Given the description of an element on the screen output the (x, y) to click on. 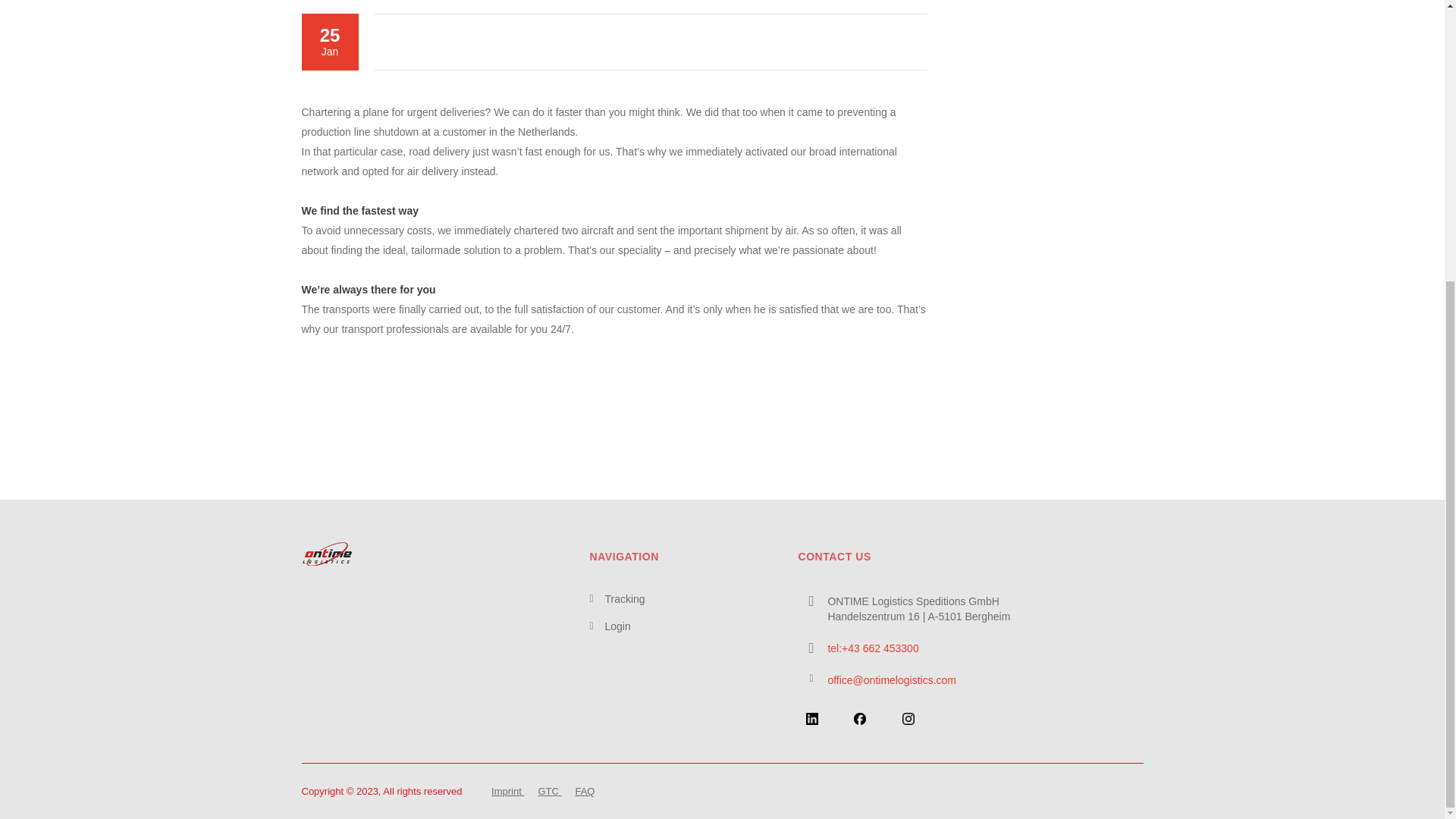
Tracking (624, 598)
